Given the description of an element on the screen output the (x, y) to click on. 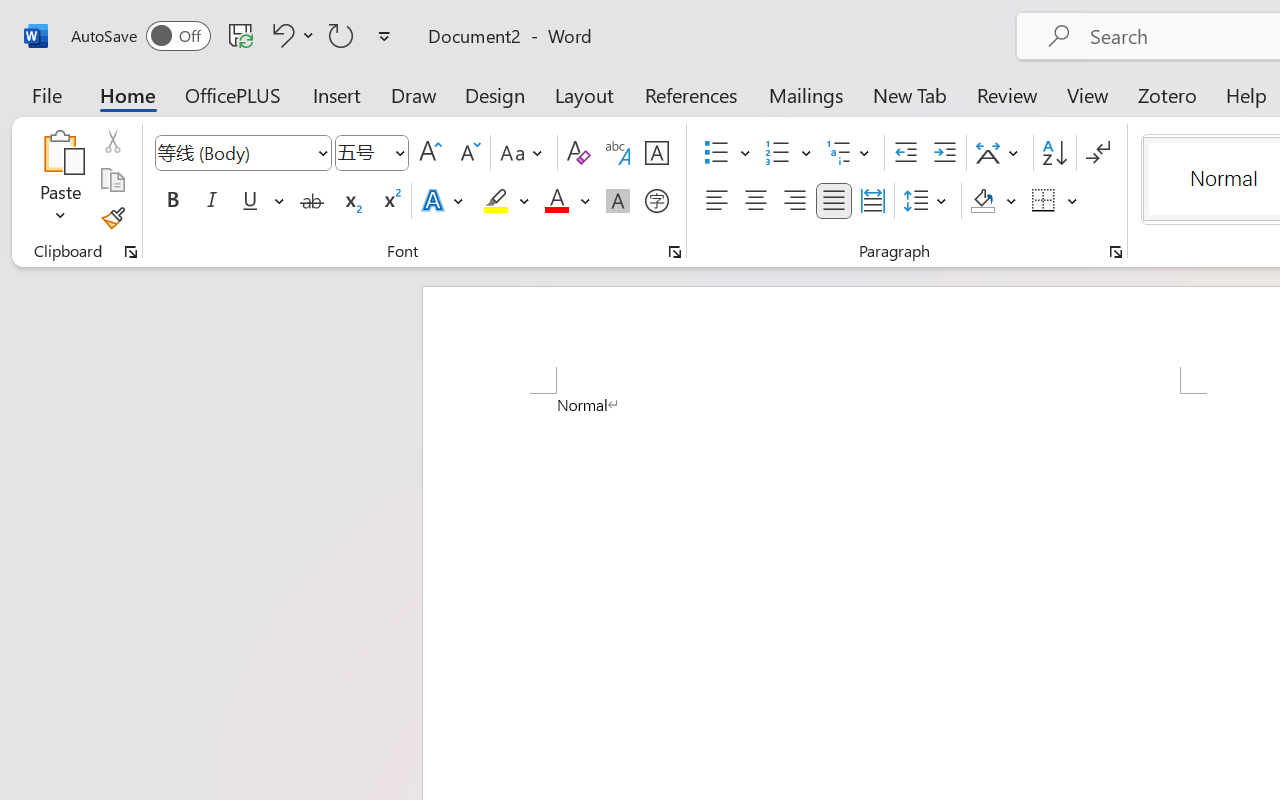
Font... (675, 252)
Strikethrough (312, 201)
OfficePLUS (233, 94)
Paste (60, 179)
Distributed (872, 201)
References (690, 94)
Line and Paragraph Spacing (927, 201)
Paragraph... (1115, 252)
Sort... (1054, 153)
View (1087, 94)
Quick Access Toolbar (233, 36)
Font (242, 153)
Align Left (716, 201)
Font Color (567, 201)
